Given the description of an element on the screen output the (x, y) to click on. 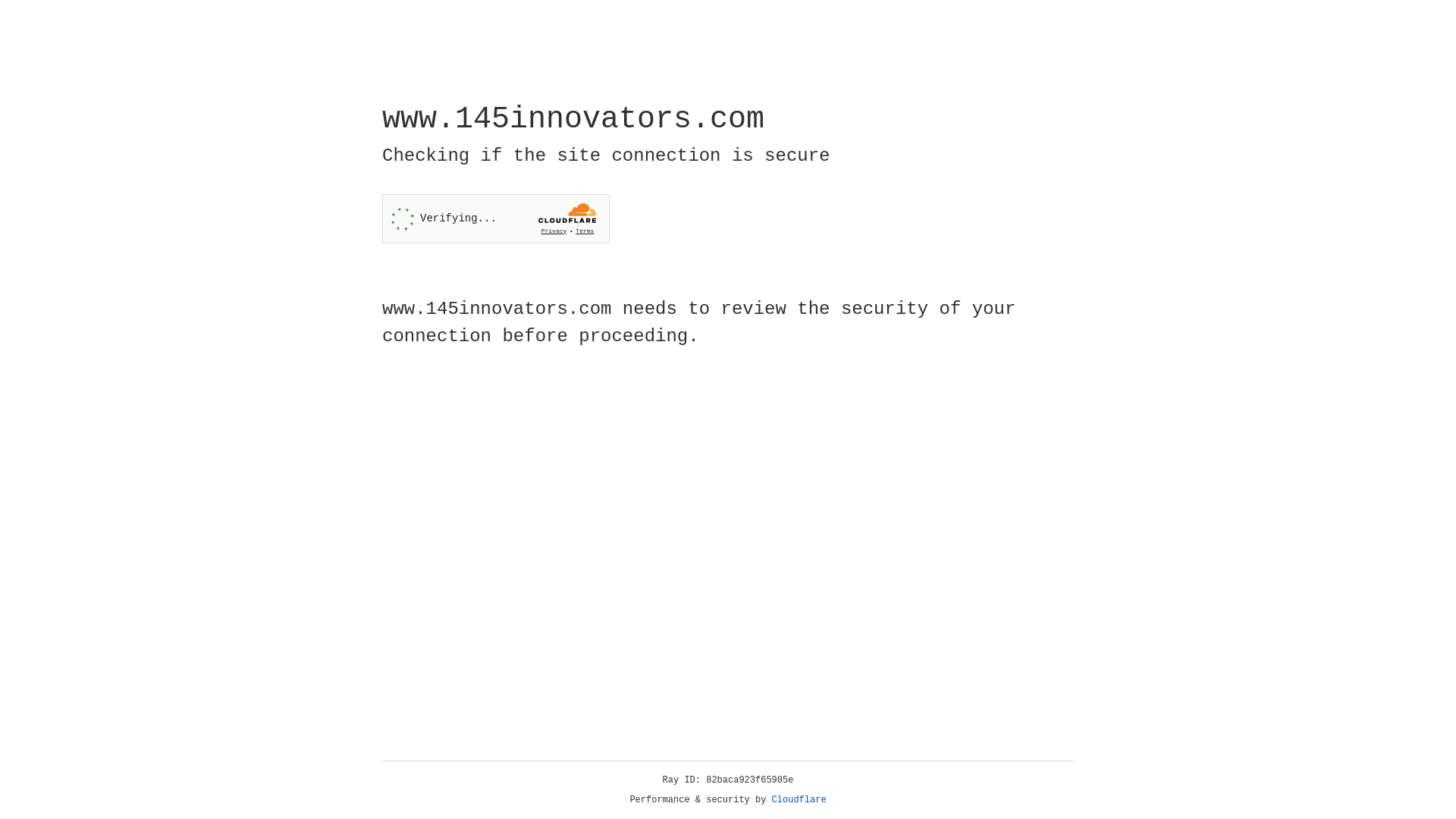
Cloudflare Element type: text (798, 799)
Widget containing a Cloudflare security challenge Element type: hover (495, 218)
